Given the description of an element on the screen output the (x, y) to click on. 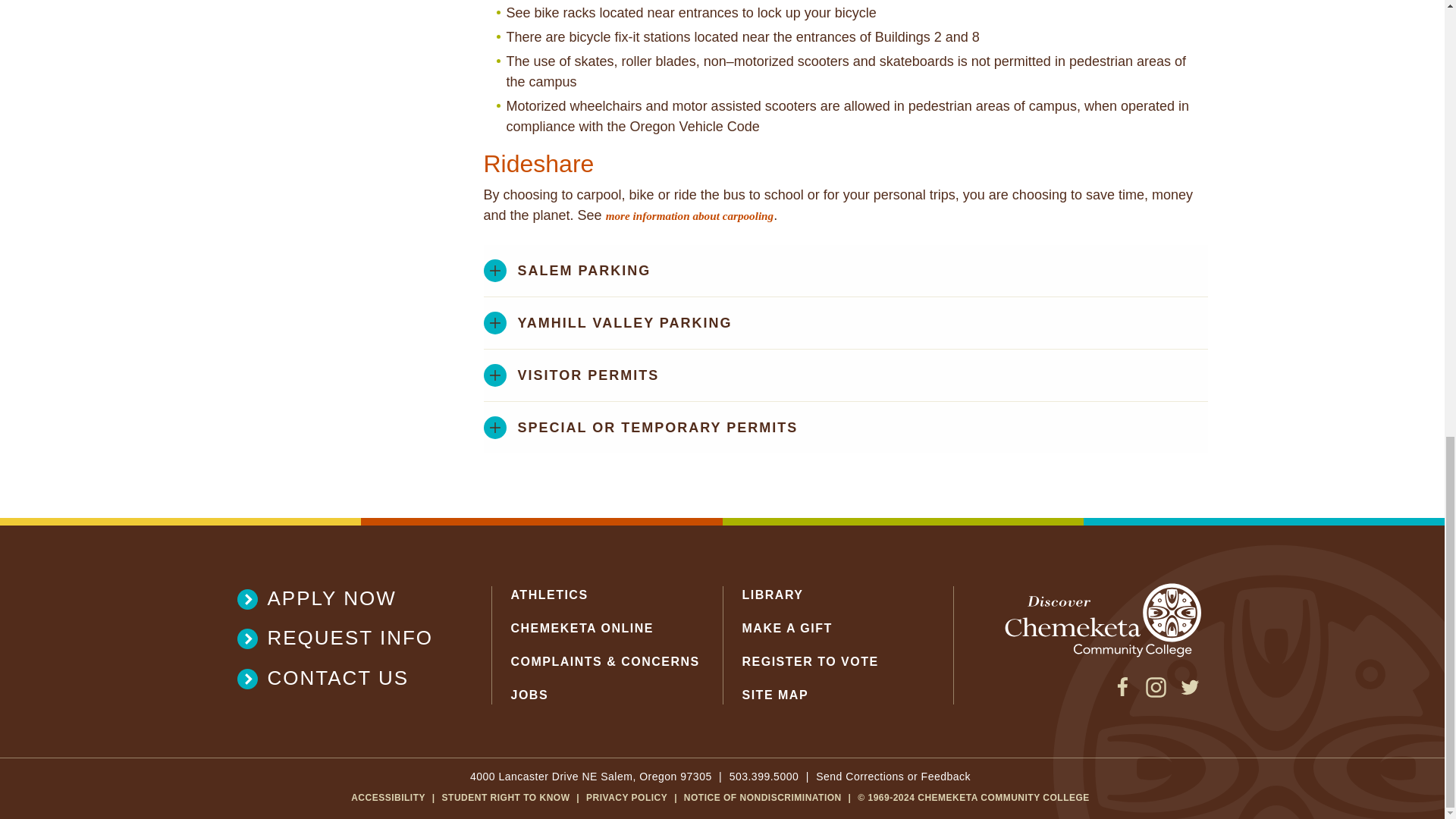
Twitter (1189, 693)
Contact Us (343, 678)
Instagram (1155, 693)
Apply Now (343, 598)
Facebook (1122, 693)
Request Info (343, 637)
